Given the description of an element on the screen output the (x, y) to click on. 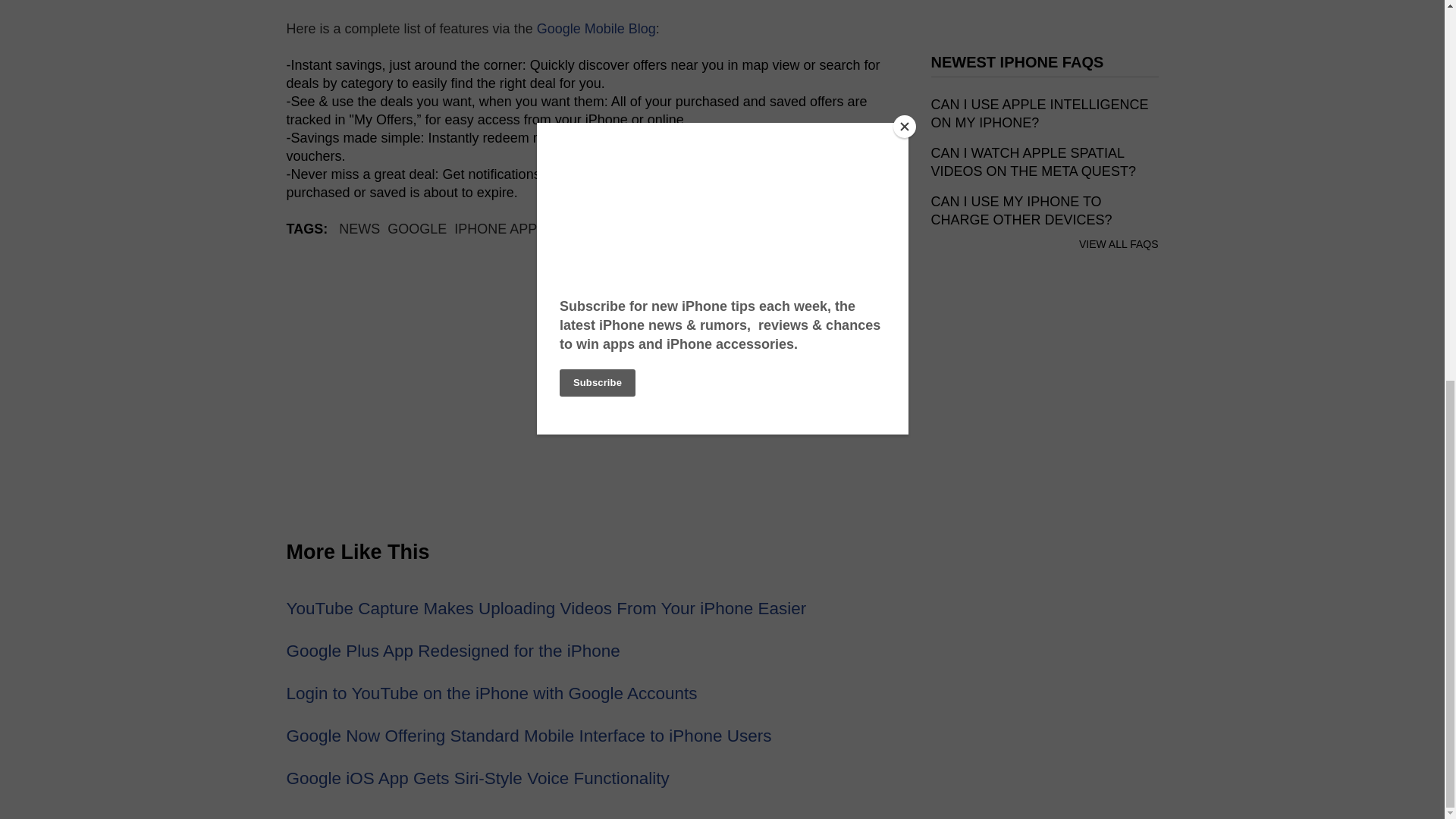
VIEW ALL FAQS (1118, 244)
IPHONE APPLICATIONS (531, 228)
Login to YouTube on the iPhone with Google Accounts (491, 692)
CAN I WATCH APPLE SPATIAL VIDEOS ON THE META QUEST? (1033, 162)
Google iOS App Gets Siri-Style Voice Functionality (477, 778)
CAN I USE APPLE INTELLIGENCE ON MY IPHONE? (1039, 113)
CAN I USE MY IPHONE TO CHARGE OTHER DEVICES? (1021, 210)
3rd party ad content (1044, 638)
Advertisement (593, 390)
GOOGLE OFFERS (727, 228)
GOOGLE (416, 228)
Google Mobile Blog (596, 28)
NEWS (359, 228)
